Given the description of an element on the screen output the (x, y) to click on. 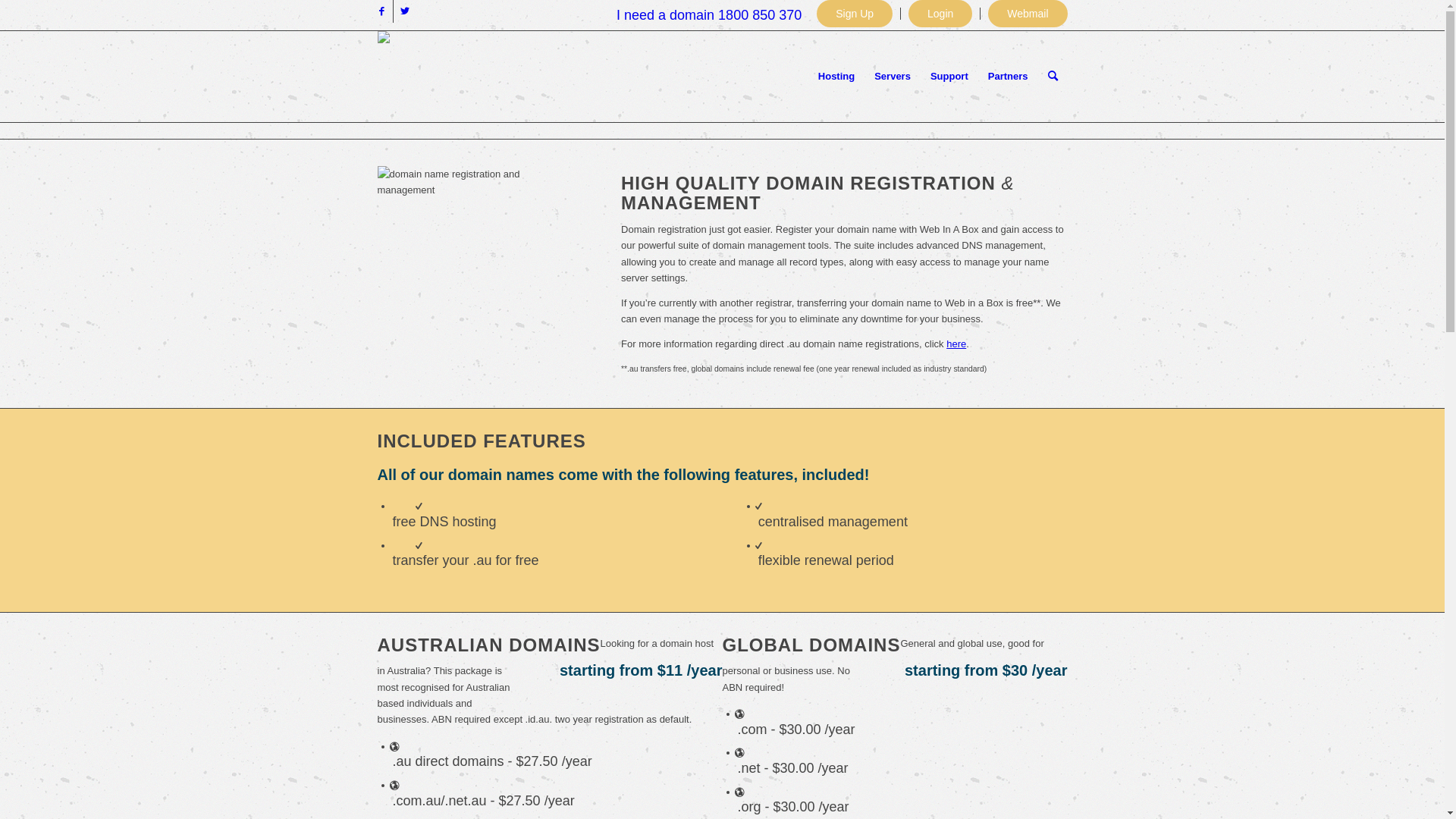
Webmail Element type: text (1027, 13)
dnsimage Element type: hover (478, 249)
Web in a Box Element type: hover (412, 42)
here Element type: text (956, 343)
Partners Element type: text (1008, 76)
Facebook Element type: hover (381, 11)
I need a domain Element type: text (665, 14)
Support Element type: text (949, 76)
Twitter Element type: hover (403, 11)
Hosting Element type: text (836, 76)
Servers Element type: text (892, 76)
Login Element type: text (940, 13)
1800 850 370 Element type: text (759, 14)
Sign Up Element type: text (854, 13)
